Given the description of an element on the screen output the (x, y) to click on. 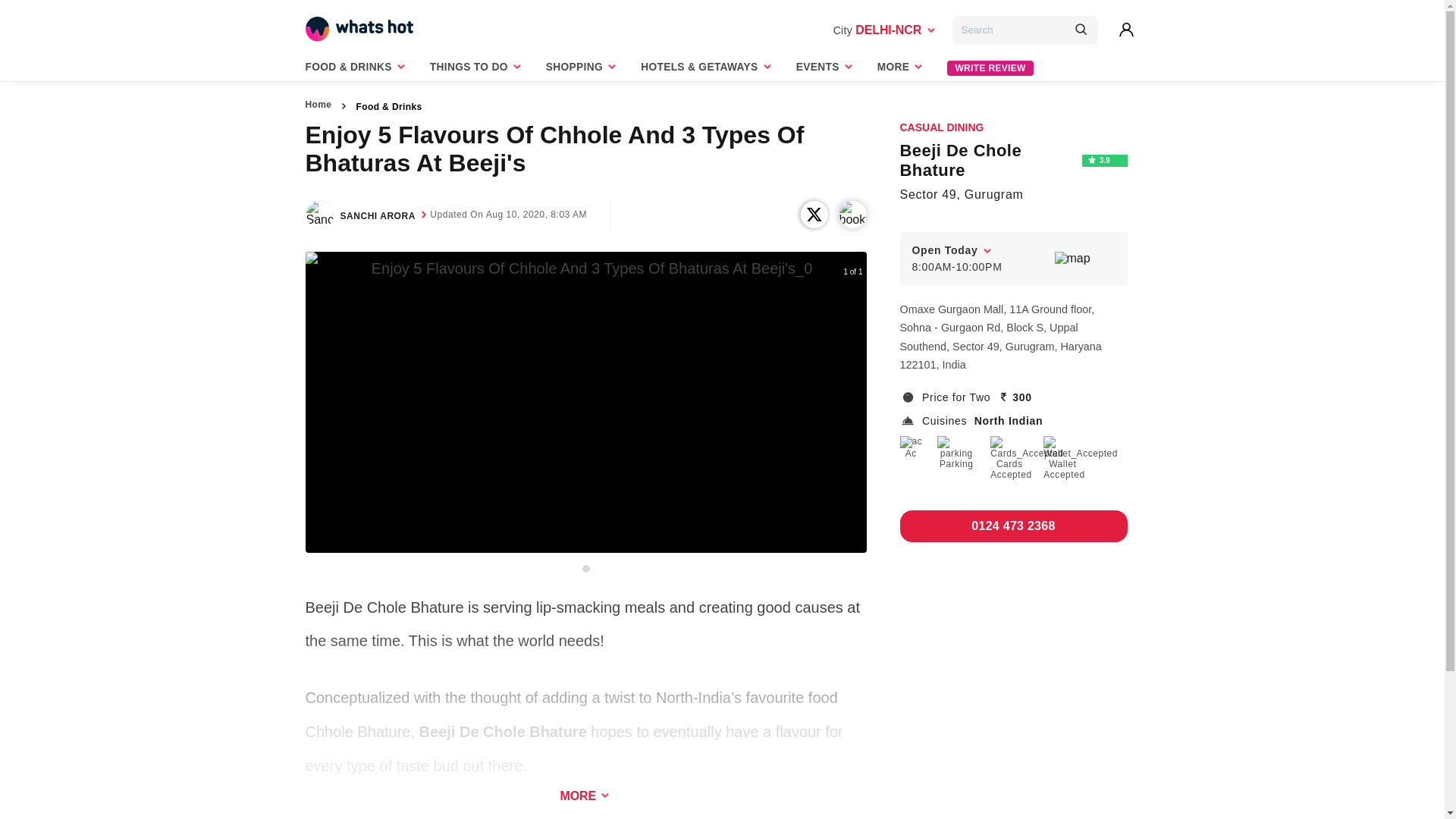
THINGS TO DO (480, 70)
Sanchi Arora (319, 214)
